Given the description of an element on the screen output the (x, y) to click on. 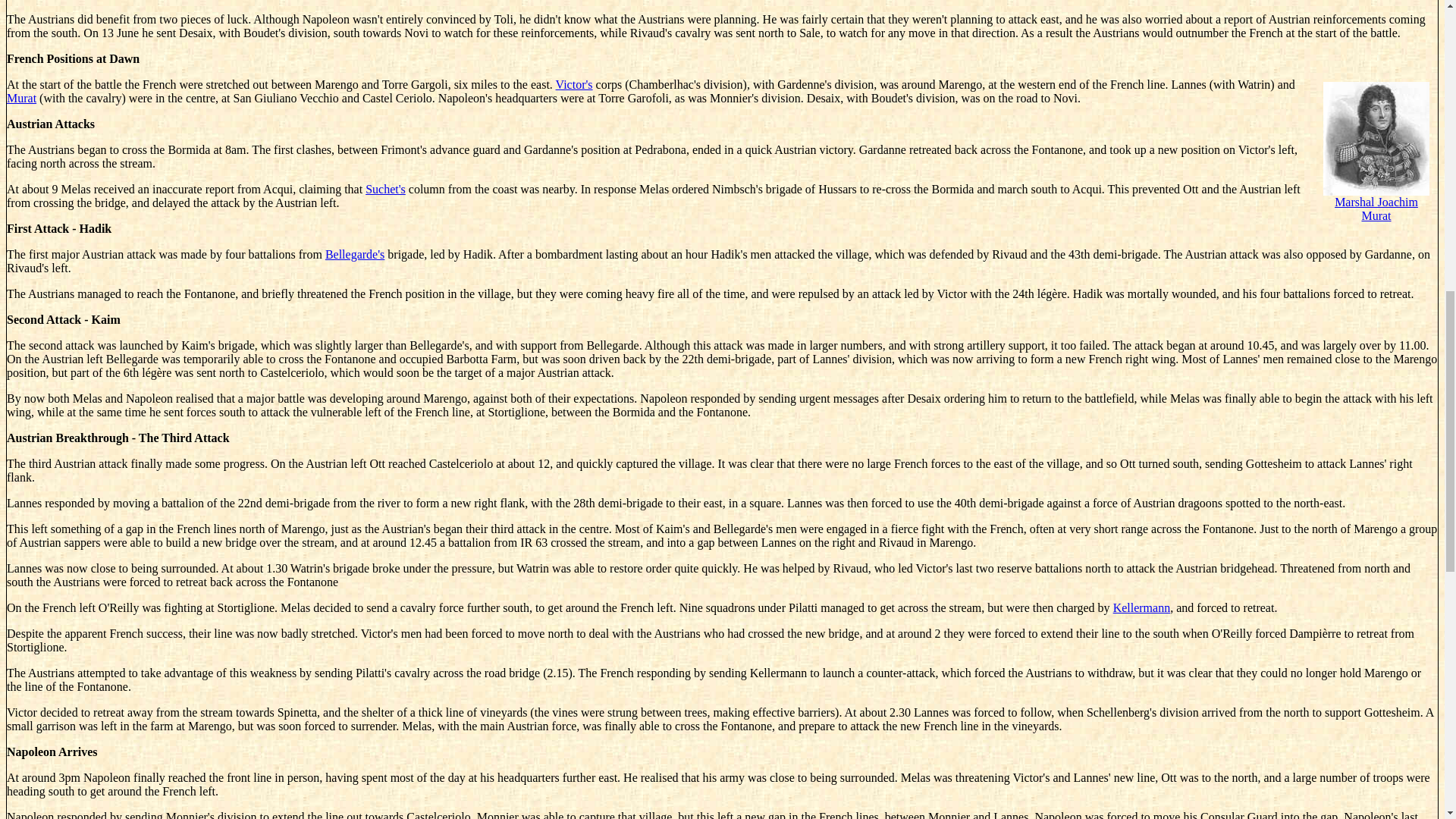
Murat (21, 97)
Marshal Joachim Murat (1376, 175)
Victor's (574, 83)
Marshal Murat   (1376, 175)
